Given the description of an element on the screen output the (x, y) to click on. 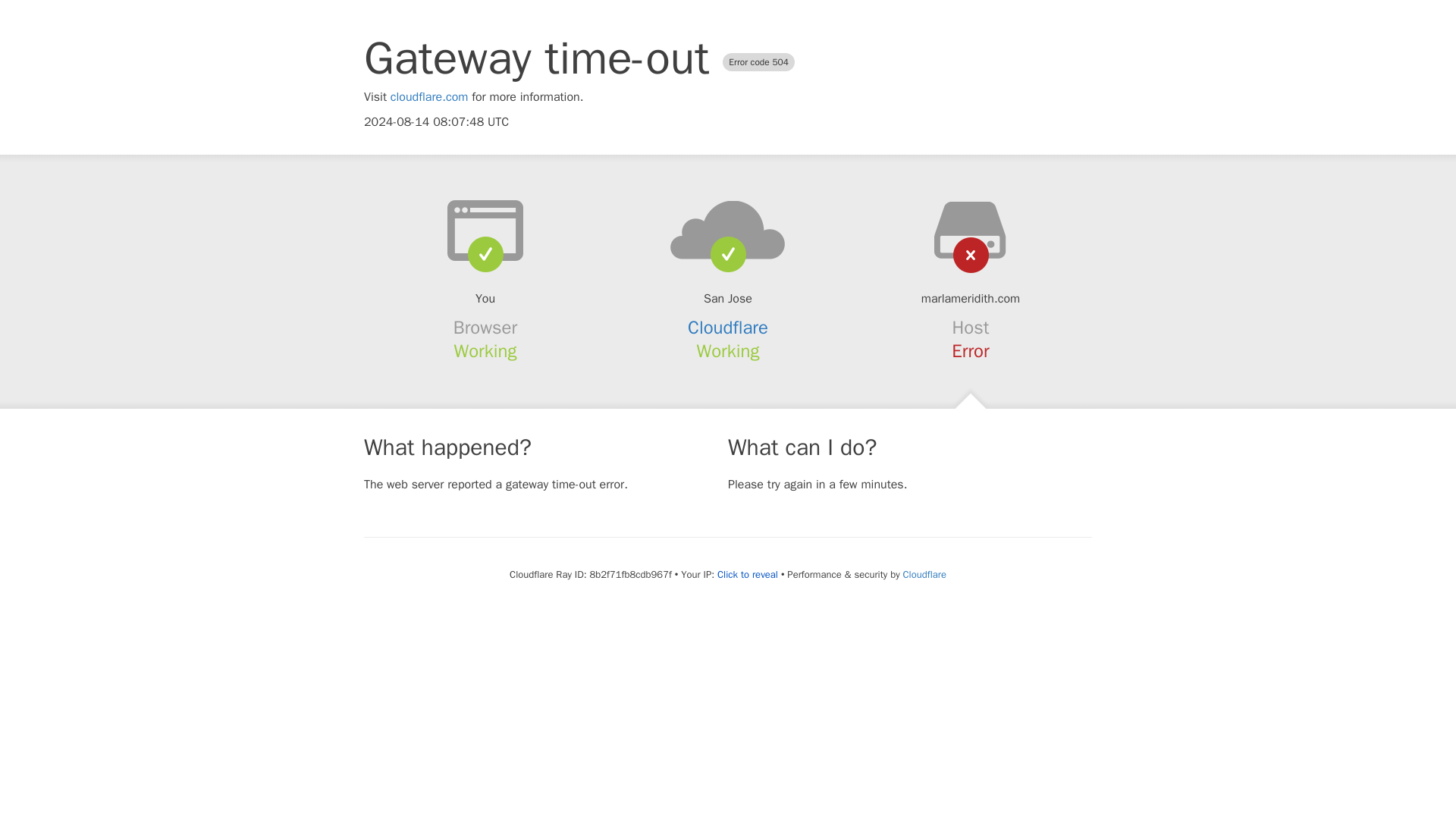
Click to reveal (747, 574)
Cloudflare (924, 574)
cloudflare.com (429, 96)
Cloudflare (727, 327)
